Given the description of an element on the screen output the (x, y) to click on. 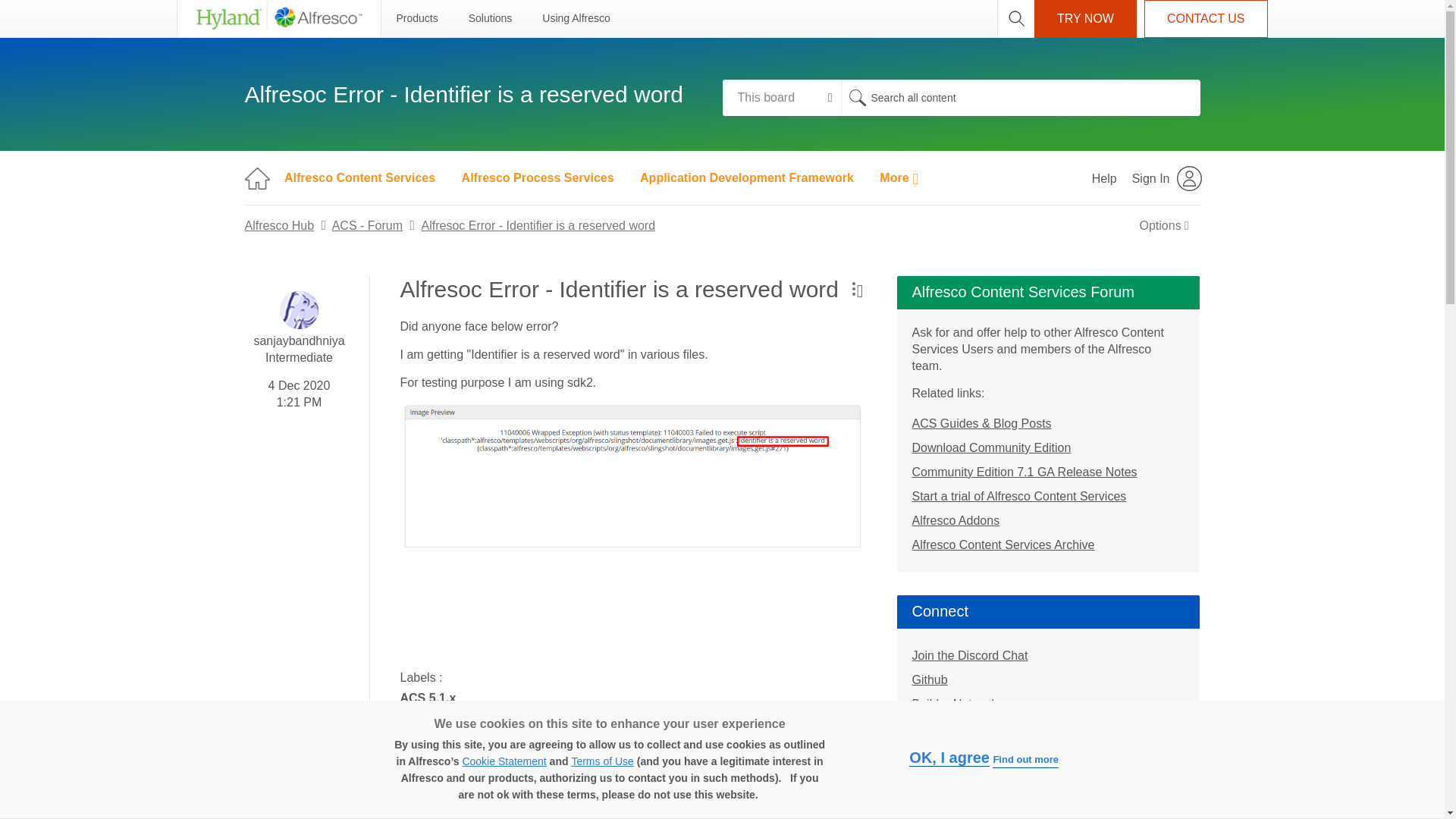
More (898, 177)
Alfresco Content Services (359, 177)
Community (256, 177)
Search (856, 97)
Sign In (1167, 177)
Search (856, 97)
Untitled.png (633, 524)
Show option menu (853, 289)
Alfresco Process Services (537, 177)
CONTACT US (1206, 18)
Show option menu (1163, 225)
Application Development Framework (746, 177)
Search (1019, 97)
Posted on (298, 390)
TRY NOW (1085, 18)
